Given the description of an element on the screen output the (x, y) to click on. 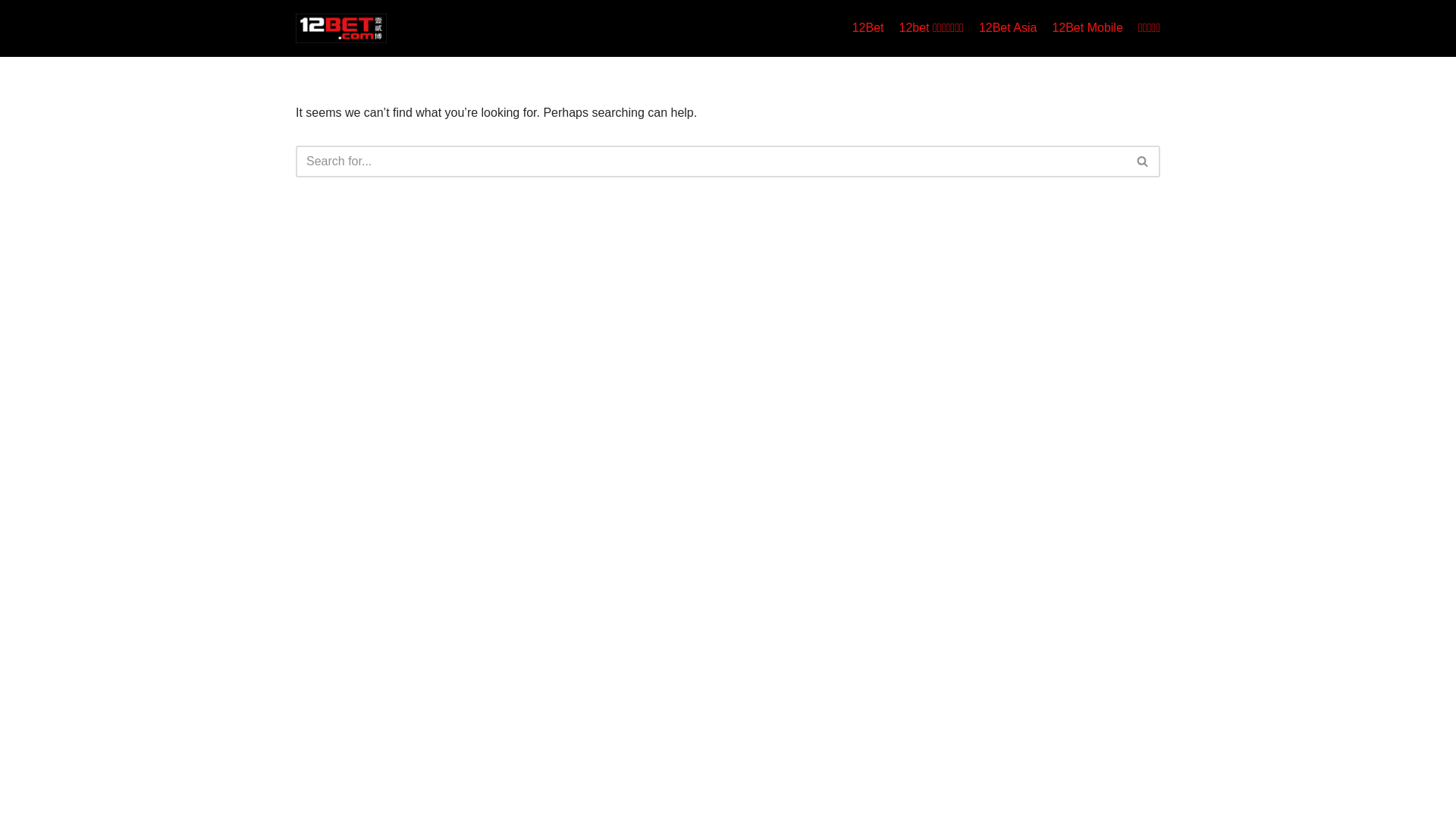
12Bet Asia Element type: text (1008, 27)
12Bet Mobile Element type: text (1086, 27)
12Bet Element type: text (868, 27)
Skip to content Element type: text (11, 31)
